Given the description of an element on the screen output the (x, y) to click on. 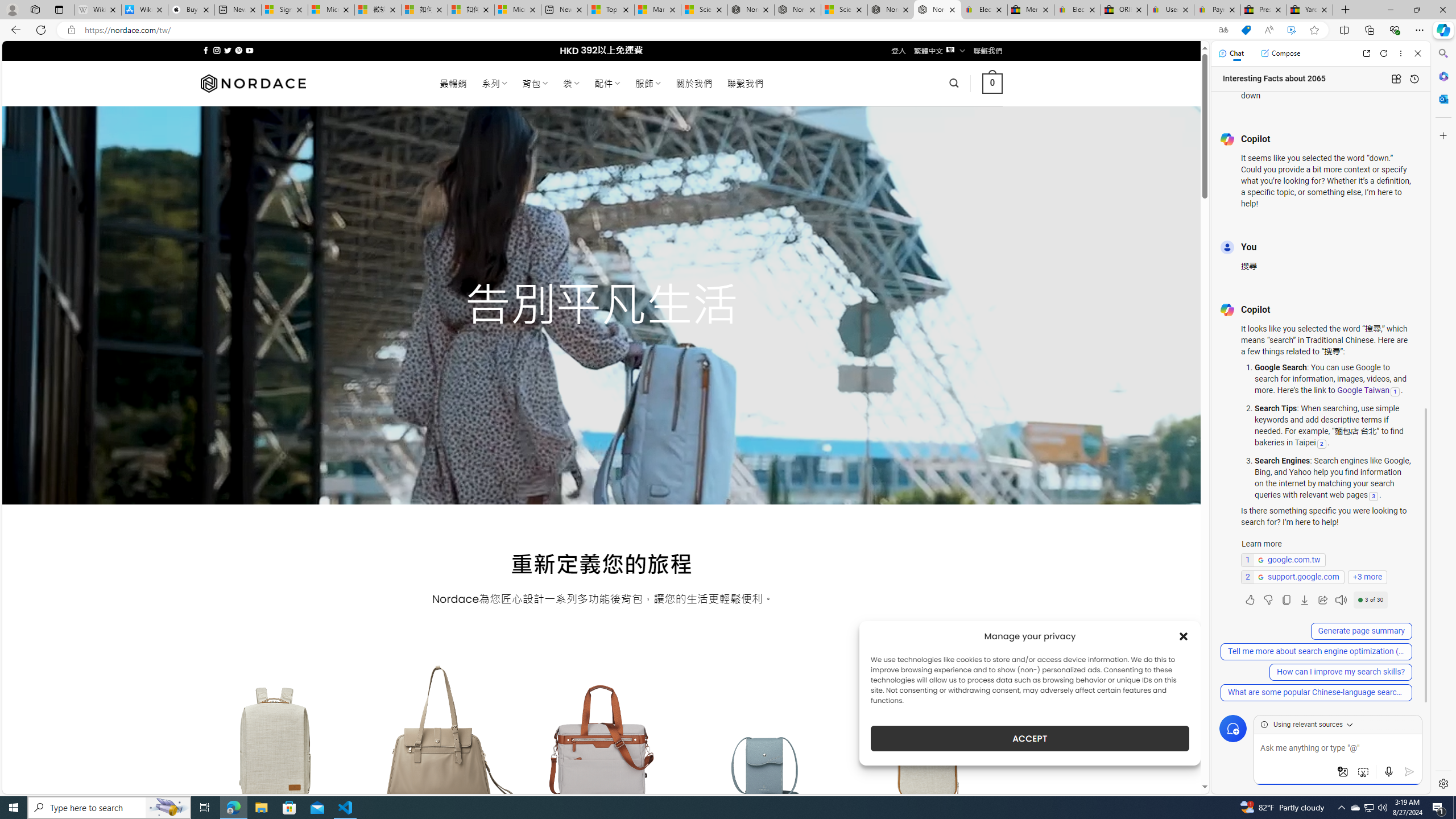
Microsoft Services Agreement (330, 9)
This site has coupons! Shopping in Microsoft Edge (1245, 29)
Enhance video (1291, 29)
 0  (992, 83)
Top Stories - MSN (610, 9)
Class: cmplz-close (1183, 636)
